Given the description of an element on the screen output the (x, y) to click on. 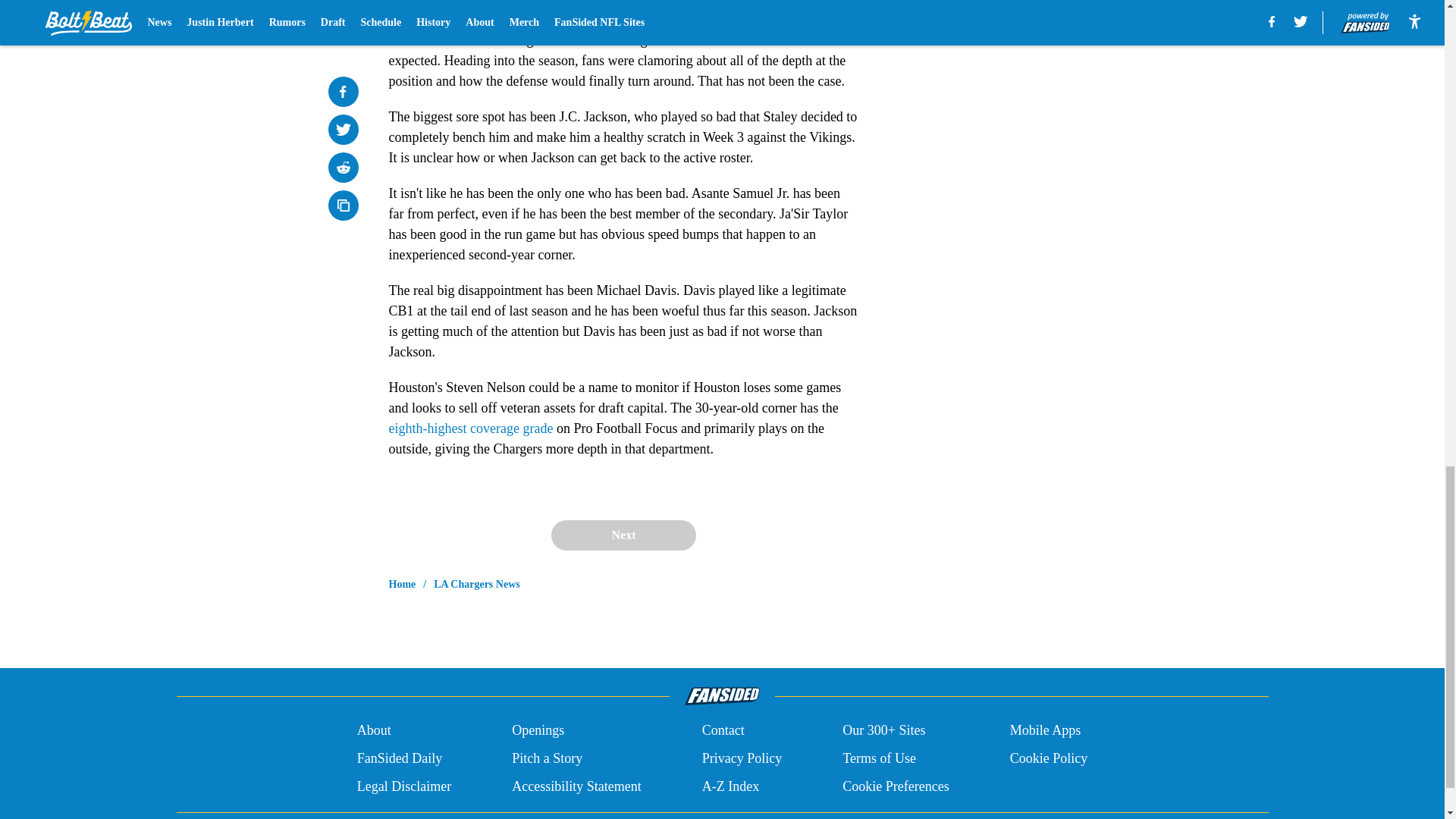
Openings (538, 730)
FanSided Daily (399, 758)
Mobile Apps (1045, 730)
eighth-highest coverage grade (470, 412)
Next (622, 535)
Cookie Policy (1048, 758)
Legal Disclaimer (403, 786)
Contact (722, 730)
LA Chargers News (476, 584)
About (373, 730)
Privacy Policy (742, 758)
Home (401, 584)
Pitch a Story (547, 758)
Terms of Use (879, 758)
